Given the description of an element on the screen output the (x, y) to click on. 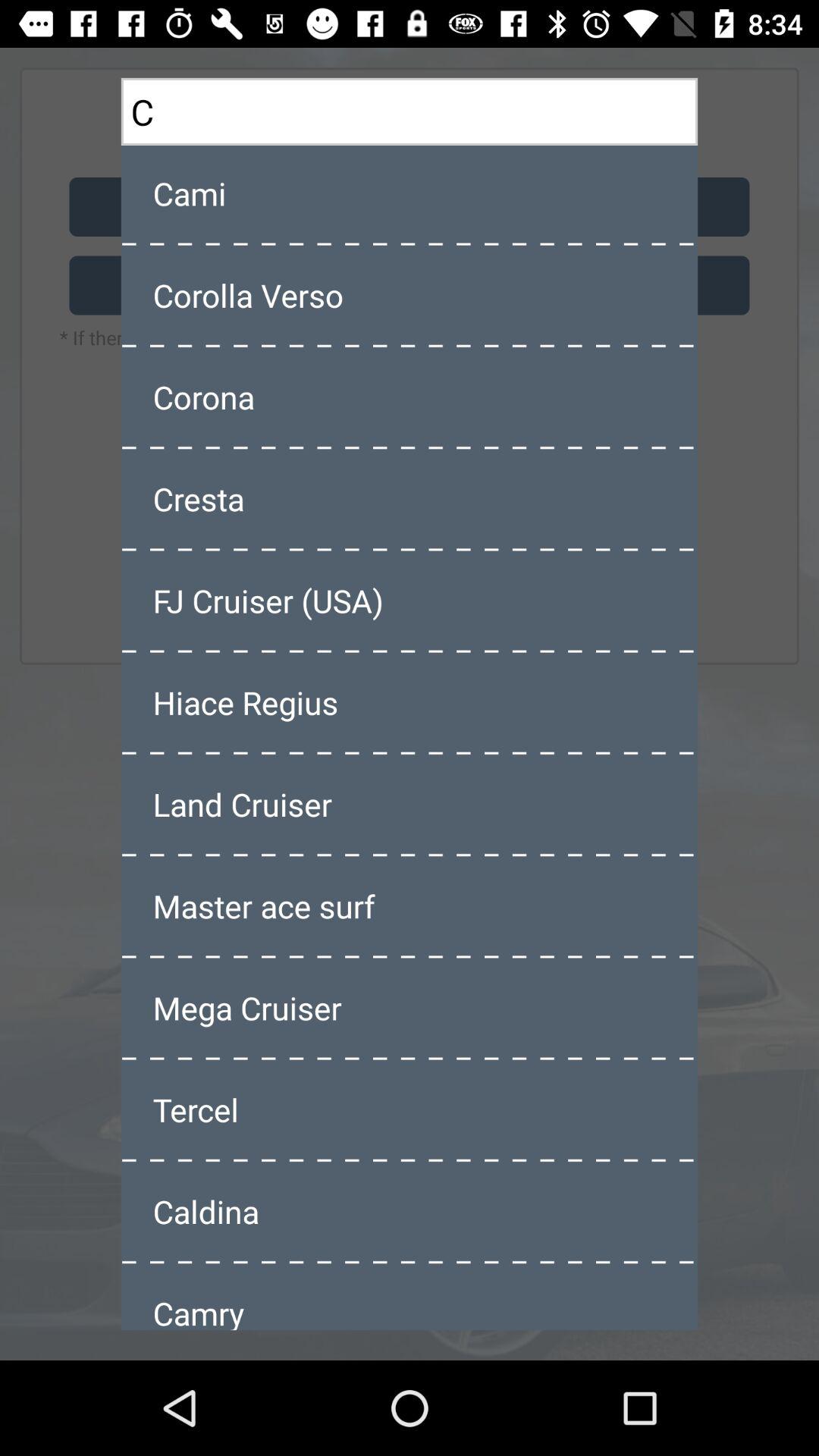
tap corona item (409, 396)
